Given the description of an element on the screen output the (x, y) to click on. 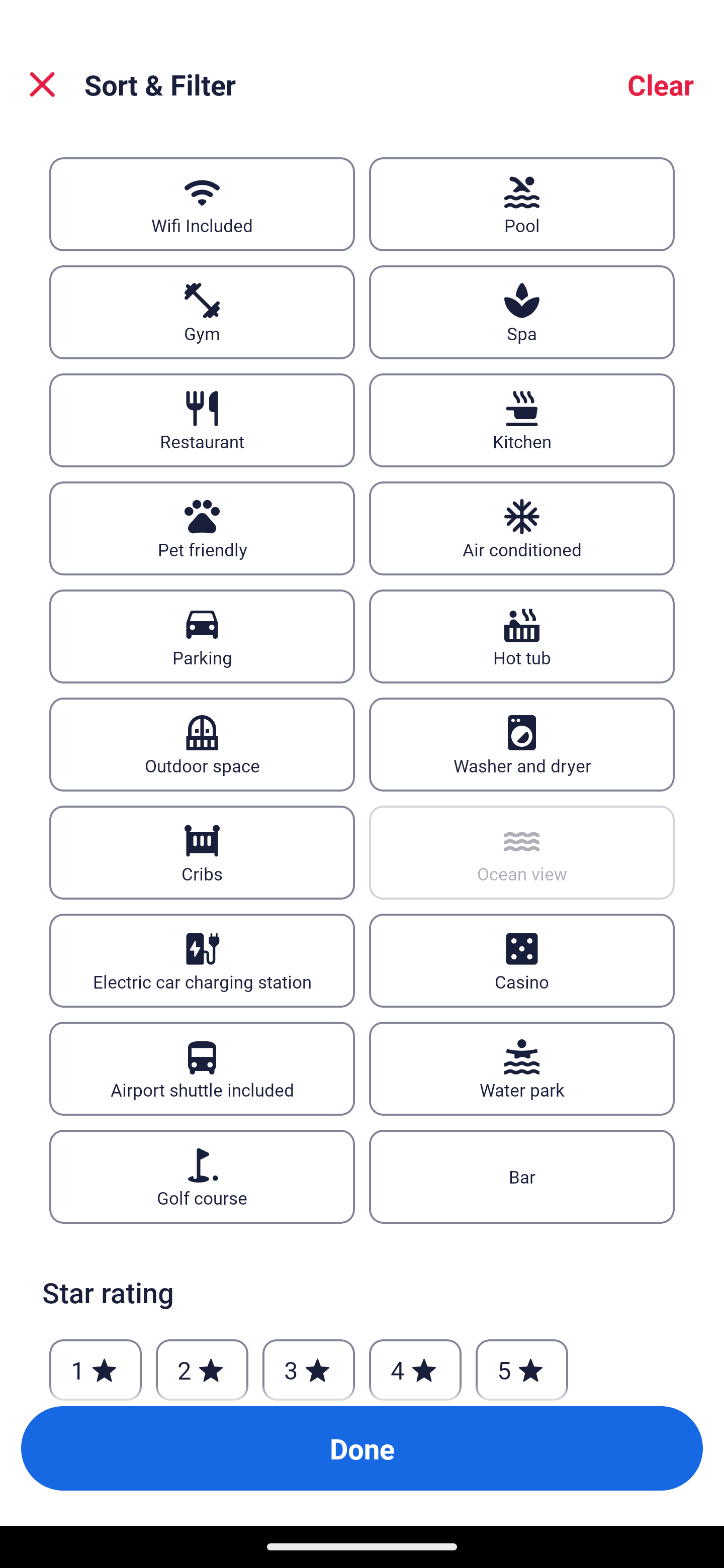
Close Sort and Filter (42, 84)
Clear (660, 84)
Wifi Included (201, 203)
Pool (521, 203)
Gym (201, 311)
Spa (521, 311)
Restaurant (201, 420)
Kitchen (521, 420)
Pet friendly (201, 528)
Air conditioned (521, 528)
Parking (201, 636)
Hot tub (521, 636)
Outdoor space (201, 744)
Washer and dryer (521, 744)
Cribs (201, 852)
Ocean view (521, 852)
Electric car charging station (201, 961)
Casino (521, 961)
Airport shuttle included (201, 1069)
Water park (521, 1069)
Golf course (201, 1176)
Bar (521, 1176)
1 (95, 1367)
2 (201, 1367)
3 (308, 1367)
4 (415, 1367)
5 (521, 1367)
Apply and close Sort and Filter Done (361, 1448)
